Given the description of an element on the screen output the (x, y) to click on. 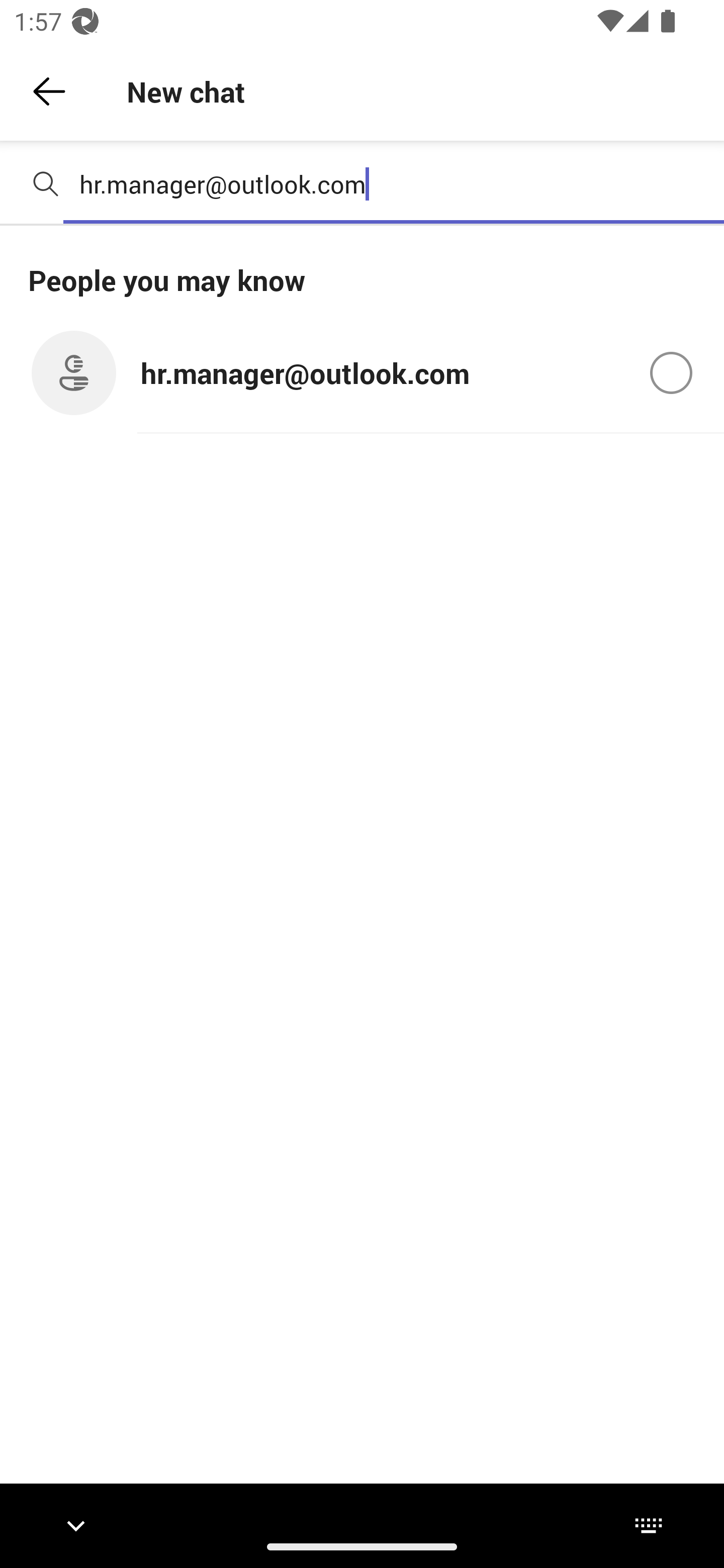
Back (49, 91)
Enter name, phone number, or email (393, 184)
